Given the description of an element on the screen output the (x, y) to click on. 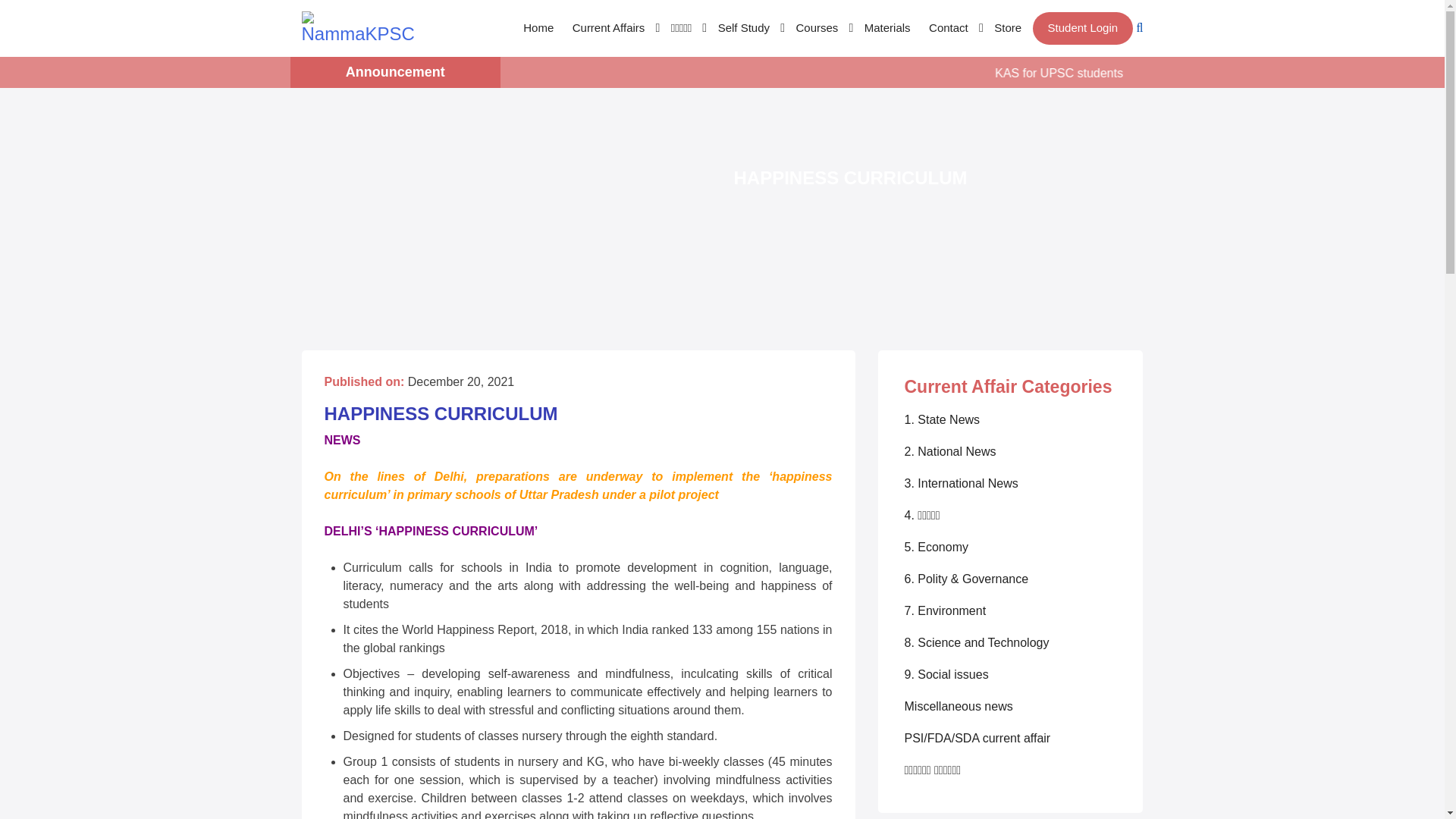
Search (42, 18)
Current Affairs (612, 28)
Materials (887, 28)
Student Login (1083, 28)
Courses (820, 28)
KAS for UPSC students (1141, 72)
Store (1008, 28)
Contact (952, 28)
Home (537, 28)
Self Study (747, 28)
